Given the description of an element on the screen output the (x, y) to click on. 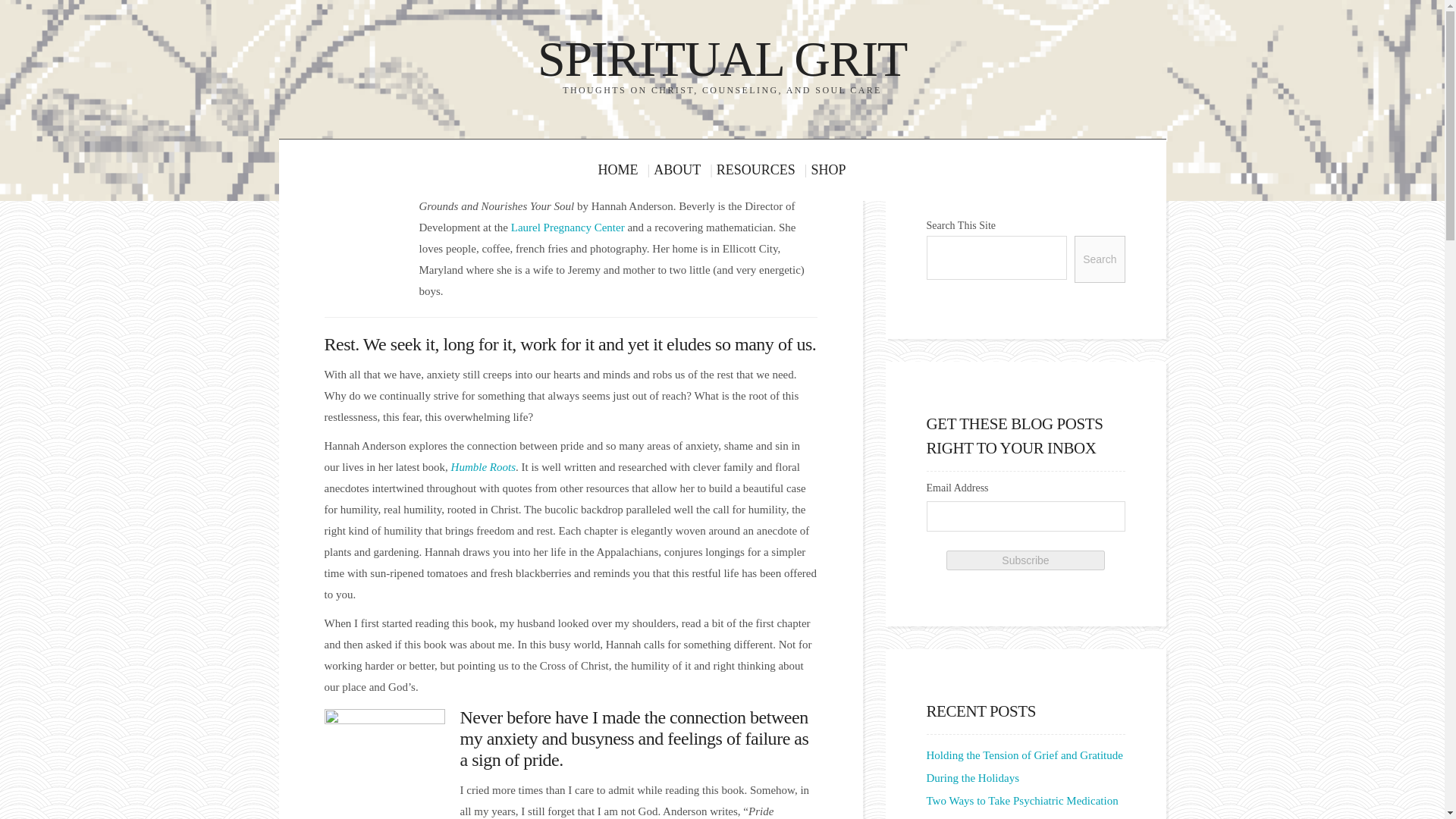
HOME (624, 169)
Subscribe (1025, 560)
Laurel Pregnancy Cen (561, 227)
Humble Roots (483, 467)
Two Ways to Take Psychiatric Medication (1022, 800)
SPIRITUAL GRIT (722, 58)
Subscribe (1025, 560)
Book Reviews (527, 152)
Search (1099, 258)
